Given the description of an element on the screen output the (x, y) to click on. 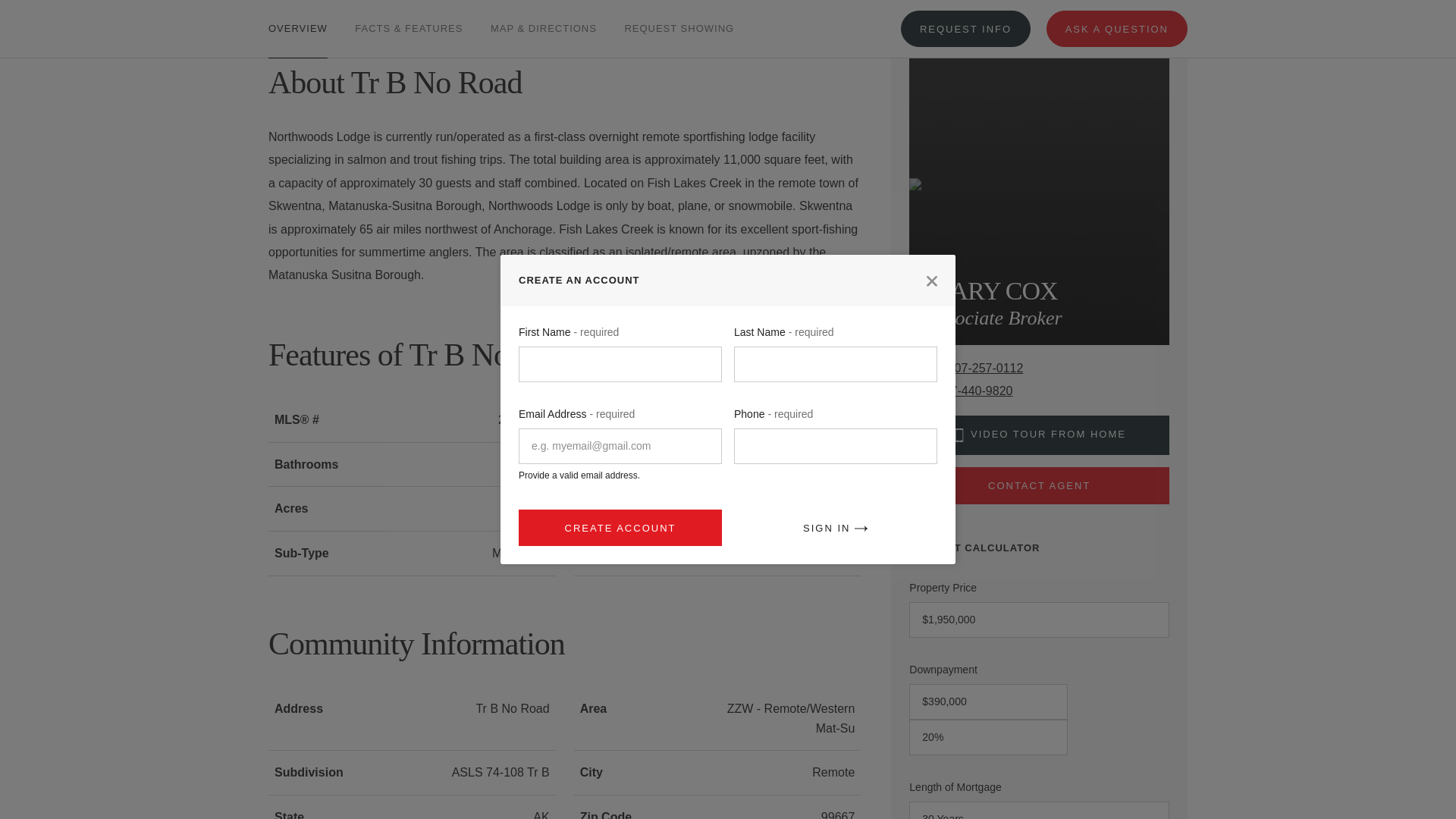
MOBILE ICON (959, 435)
